Given the description of an element on the screen output the (x, y) to click on. 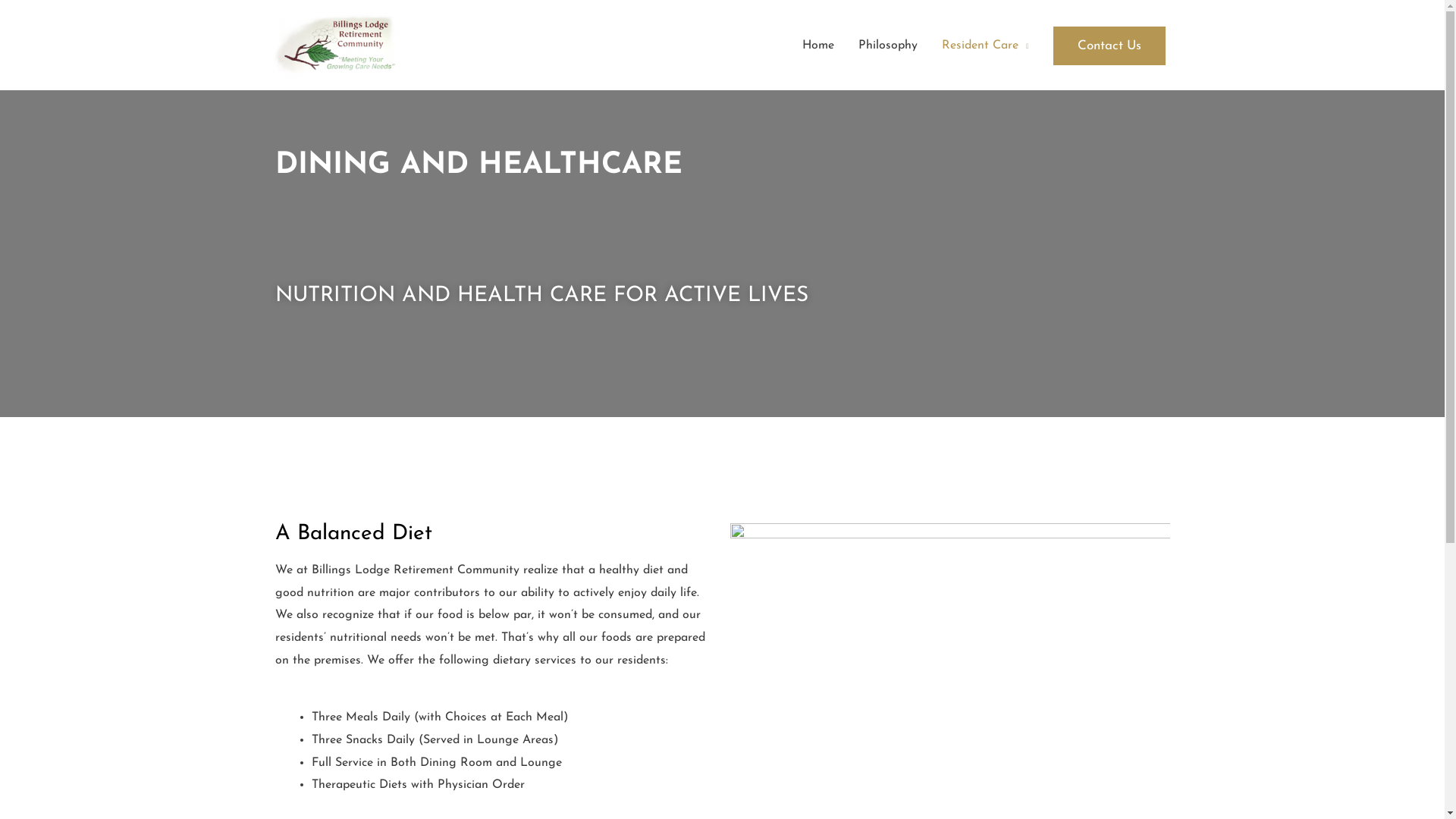
Philosophy Element type: text (887, 45)
Contact Us Element type: text (1108, 45)
Home Element type: text (818, 45)
Resident Care Element type: text (985, 45)
